Given the description of an element on the screen output the (x, y) to click on. 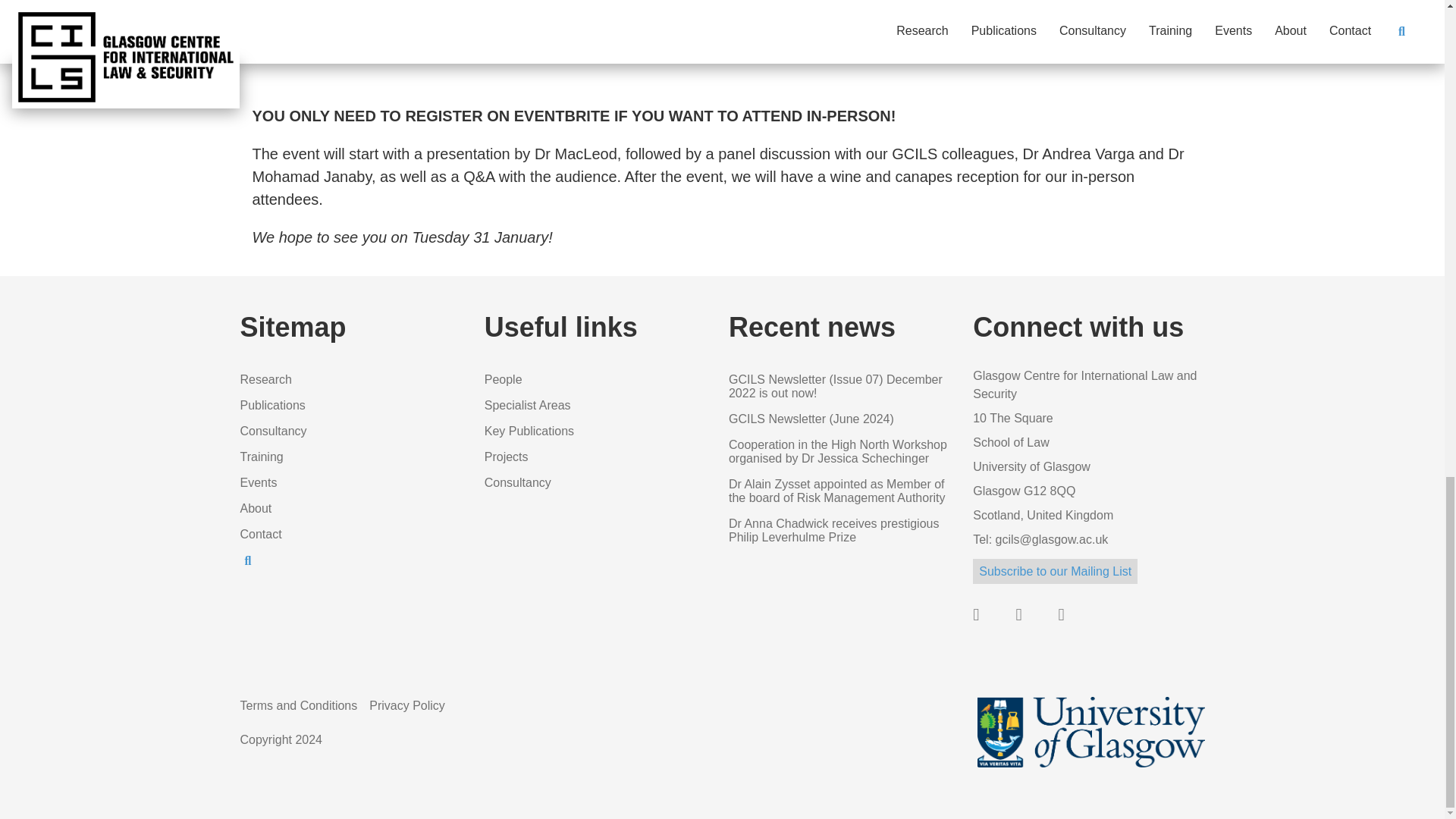
People (503, 379)
Specialist Areas (527, 404)
Events (258, 481)
Training (261, 456)
Key Publications (528, 431)
About (255, 508)
Contact (260, 533)
Research (265, 379)
Projects (506, 456)
Consultancy (272, 431)
